Given the description of an element on the screen output the (x, y) to click on. 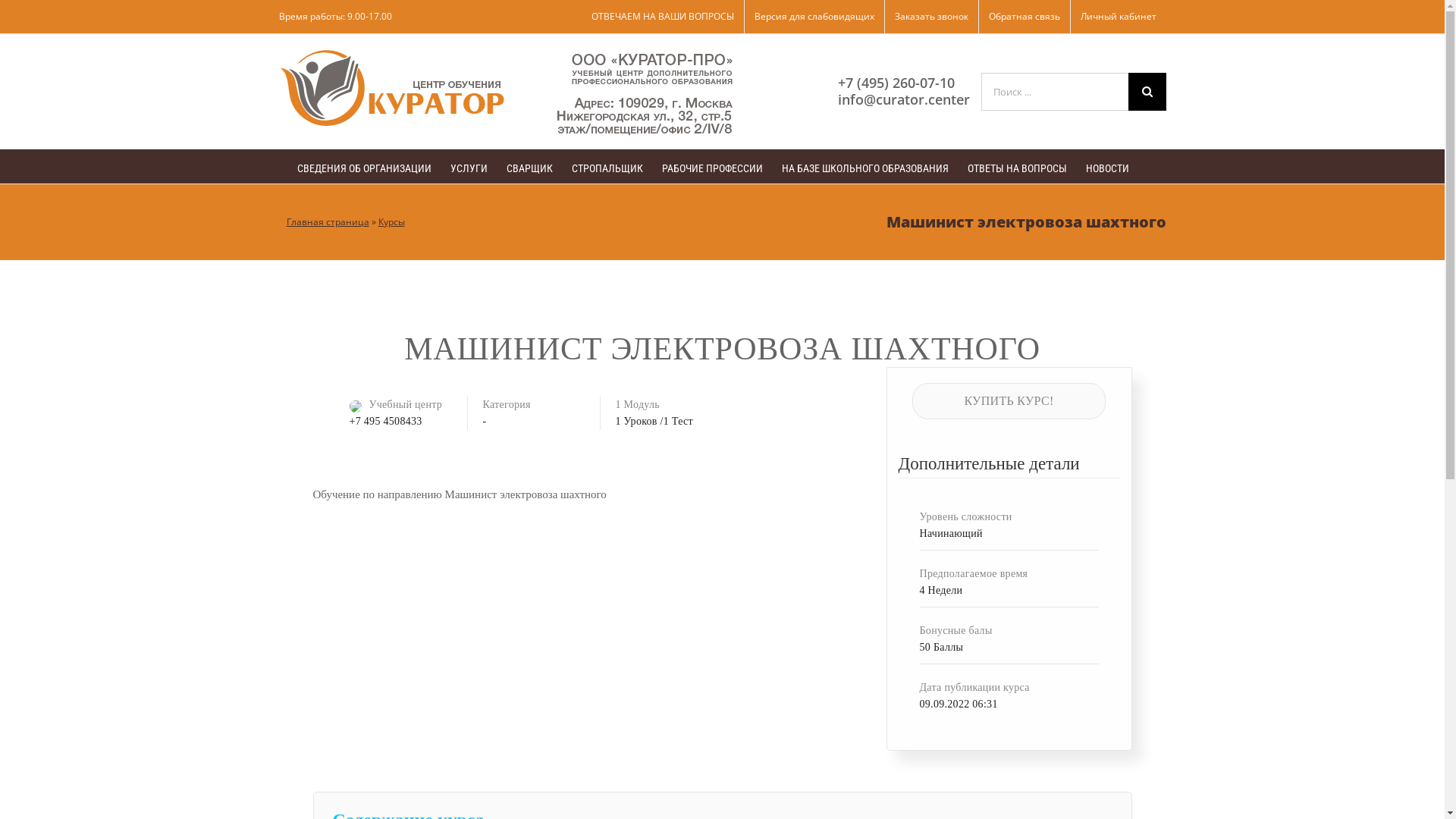
+7 (495) 260-07-10 Element type: text (895, 82)
info@curator.center Element type: text (903, 98)
